Given the description of an element on the screen output the (x, y) to click on. 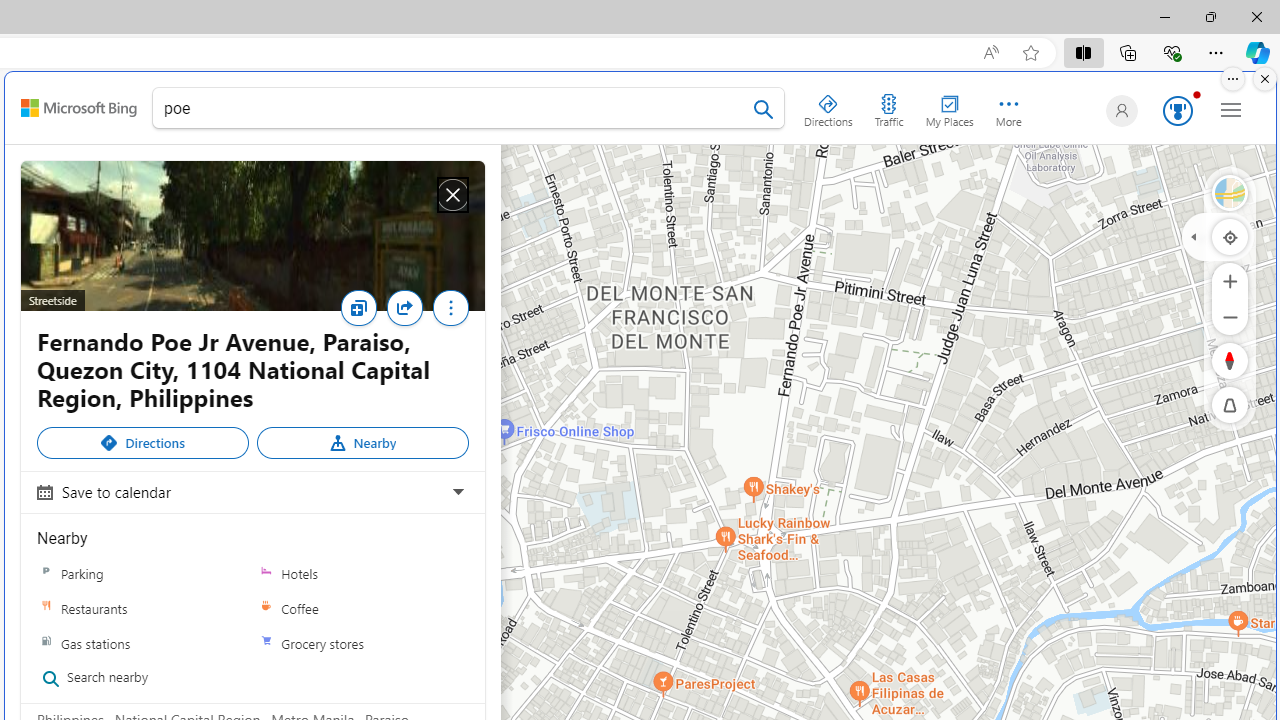
Grocery stores (266, 643)
AutomationID: rh_meter (1178, 110)
Browser essentials (1171, 52)
Reset to Default Rotation (1230, 360)
Settings and more (Alt+F) (1215, 52)
More options. (1233, 79)
Add a search (453, 107)
Grocery stores (362, 642)
AutomationID: serp_medal_svg (1178, 110)
Restaurants (143, 608)
Road (1230, 192)
My Places (949, 106)
Save (363, 314)
Traffic (888, 106)
Save to calendar (250, 491)
